Given the description of an element on the screen output the (x, y) to click on. 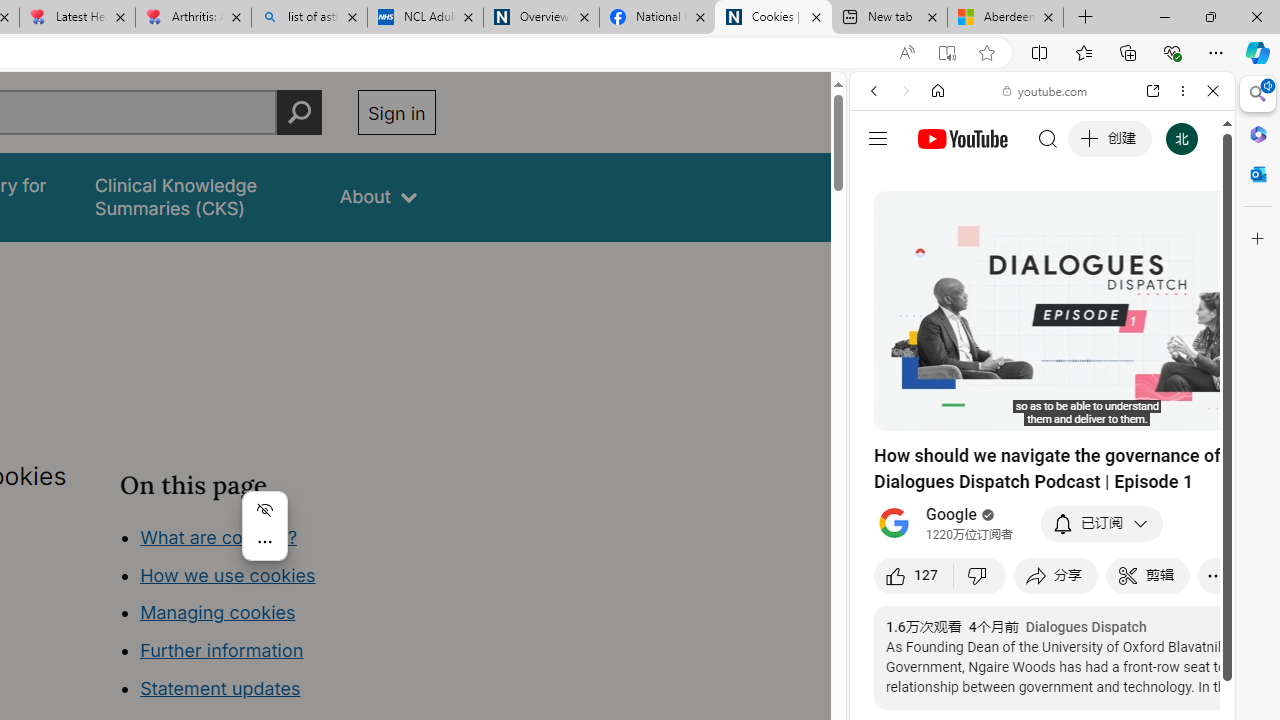
Mini menu on text selection (264, 525)
Search videos from youtube.com (1005, 657)
Statement updates (219, 688)
Cookies | About | NICE (772, 17)
